Given the description of an element on the screen output the (x, y) to click on. 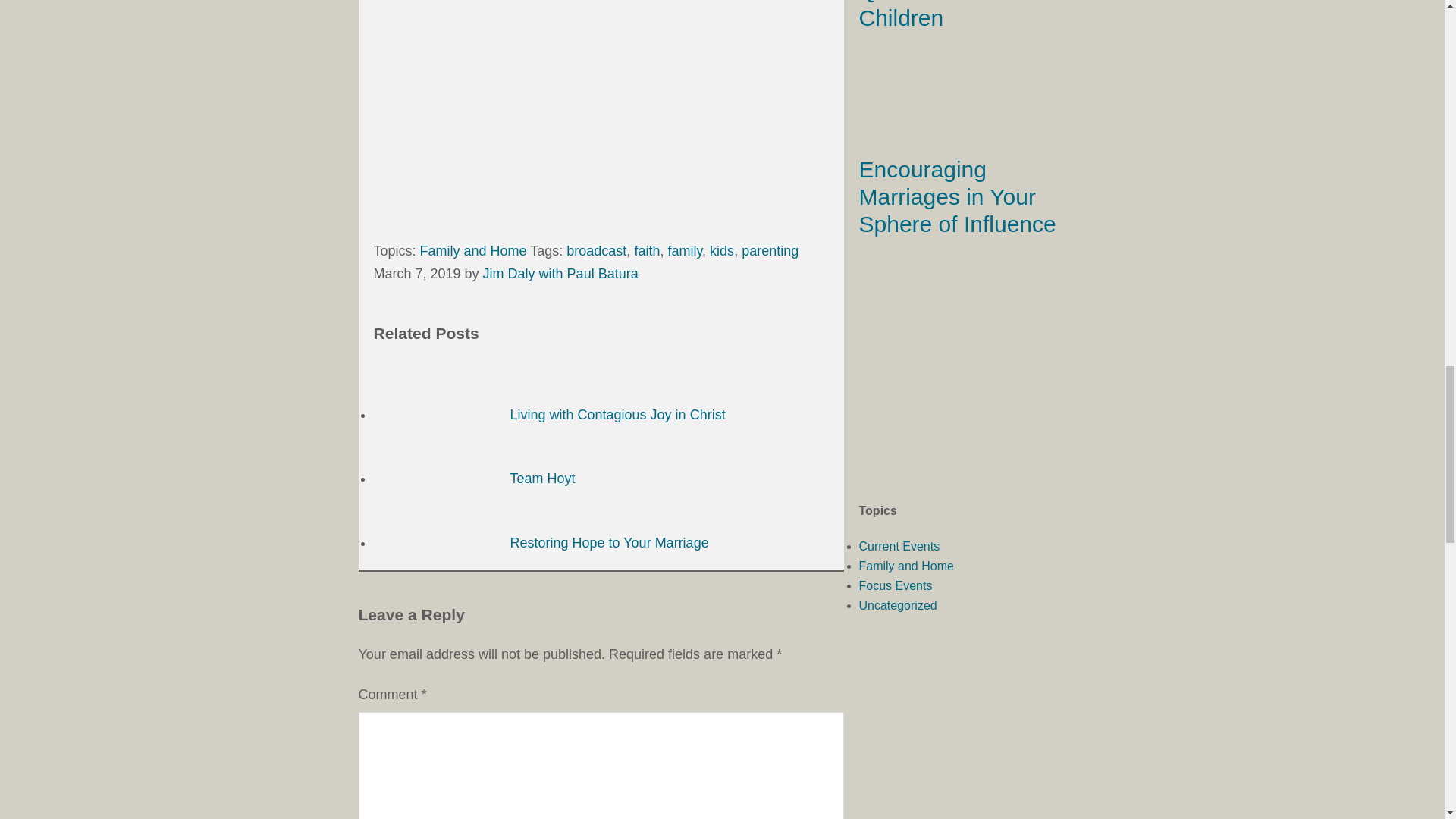
faith (646, 250)
Living with Contagious Joy in Christ (548, 414)
Permanent Link toLiving with Contagious Joy in Christ (548, 414)
broadcast (596, 250)
family (683, 250)
Team Hoyt (473, 478)
Family and Home (473, 250)
Restoring Hope to Your Marriage (539, 542)
kids (721, 250)
Permanent Link toTeam Hoyt (473, 478)
